Given the description of an element on the screen output the (x, y) to click on. 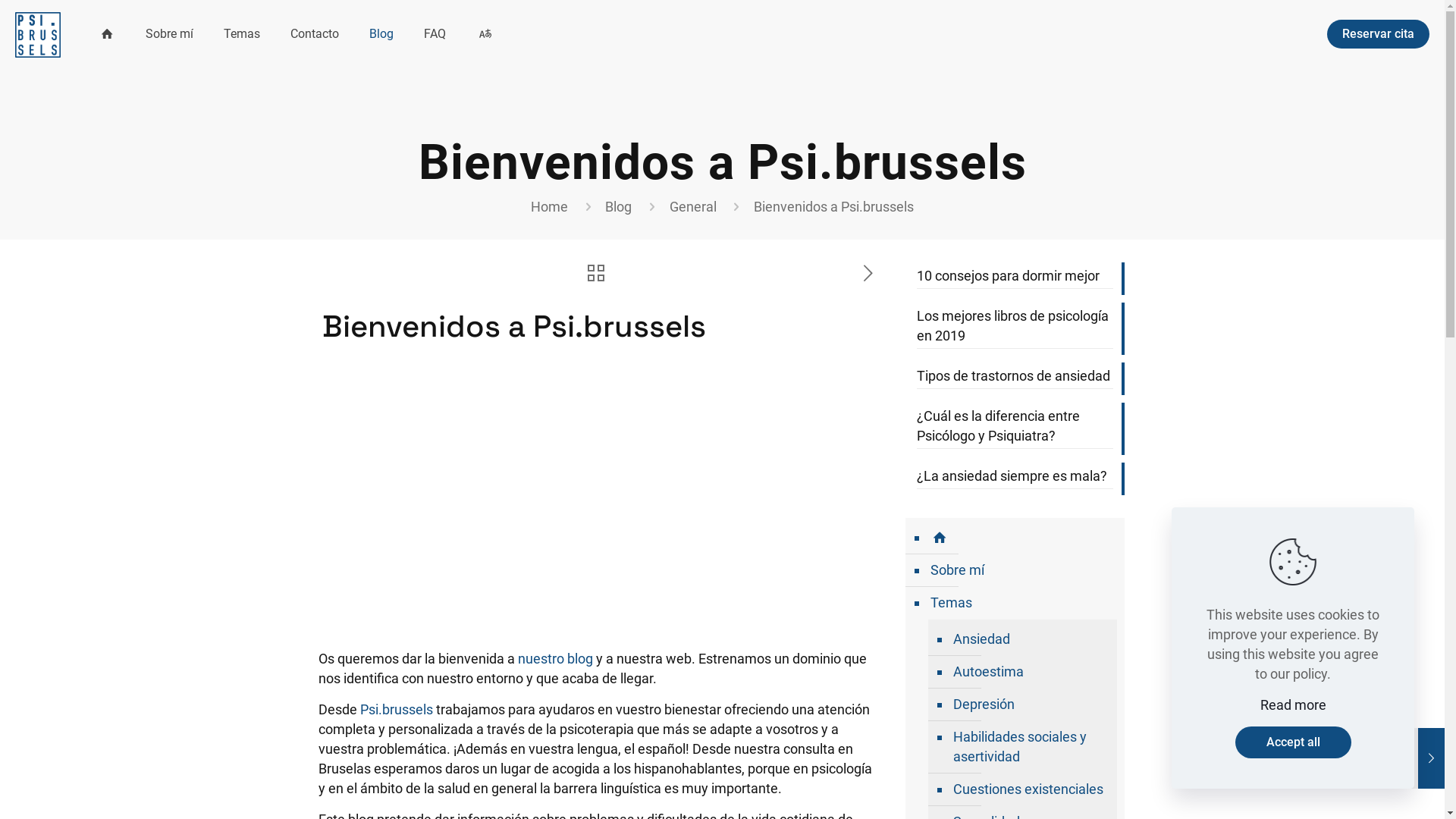
Psi.brussels Element type: hover (37, 34)
FAQ Element type: text (434, 34)
nuestro blog Element type: text (555, 658)
Reservar cita Element type: text (1378, 33)
Habilidades sociales y asertividad Element type: text (1029, 747)
Blog Element type: text (381, 34)
Accept all Element type: text (1292, 742)
Ansiedad Element type: text (1029, 639)
Read more Element type: text (1293, 705)
Cuestiones existenciales Element type: text (1029, 789)
General Element type: text (692, 206)
Psi.brussels Element type: text (396, 709)
Temas Element type: text (1022, 602)
Tipos de trastornos de ansiedad Element type: text (1014, 377)
Blog Element type: text (618, 206)
10 consejos para dormir mejor Element type: text (1014, 277)
Temas Element type: text (241, 34)
Home Element type: text (548, 206)
Autoestima Element type: text (1029, 671)
Contacto Element type: text (314, 34)
